Given the description of an element on the screen output the (x, y) to click on. 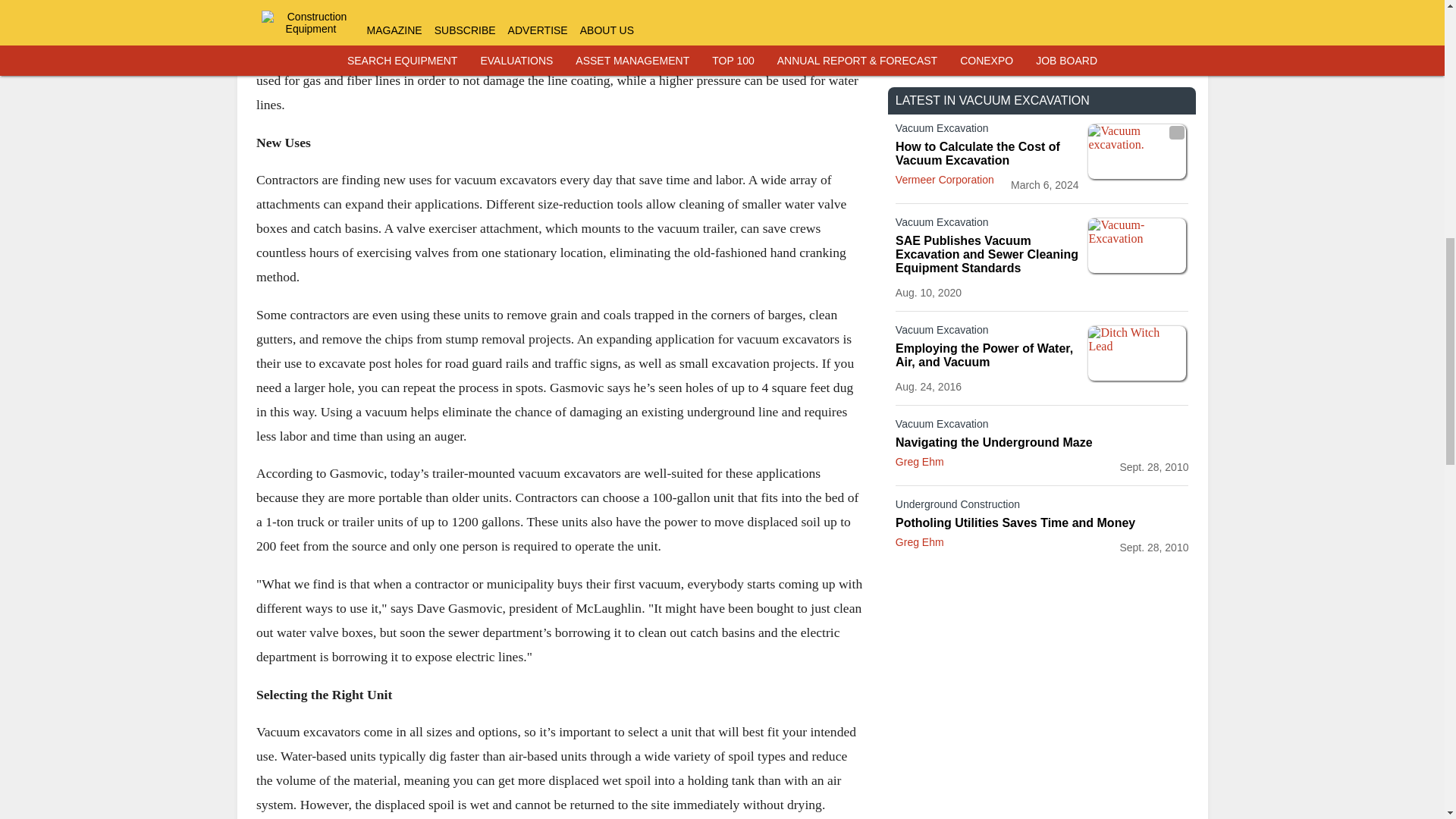
Underground Construction (1042, 506)
Vacuum Excavation (1042, 426)
Greg Ehm (919, 461)
Vermeer Corporation (944, 179)
Vacuum Excavation (986, 225)
Navigating the Underground Maze (1042, 442)
Vacuum-Excavation (1136, 245)
Potholing Utilities Saves Time and Money (1042, 522)
Vacuum Excavation (986, 131)
LATEST IN VACUUM EXCAVATION (992, 100)
Vacuum excavation. (1136, 151)
Ditch Witch Lead (1136, 352)
Employing the Power of Water, Air, and Vacuum (986, 355)
How to Calculate the Cost of Vacuum Excavation (986, 153)
